Given the description of an element on the screen output the (x, y) to click on. 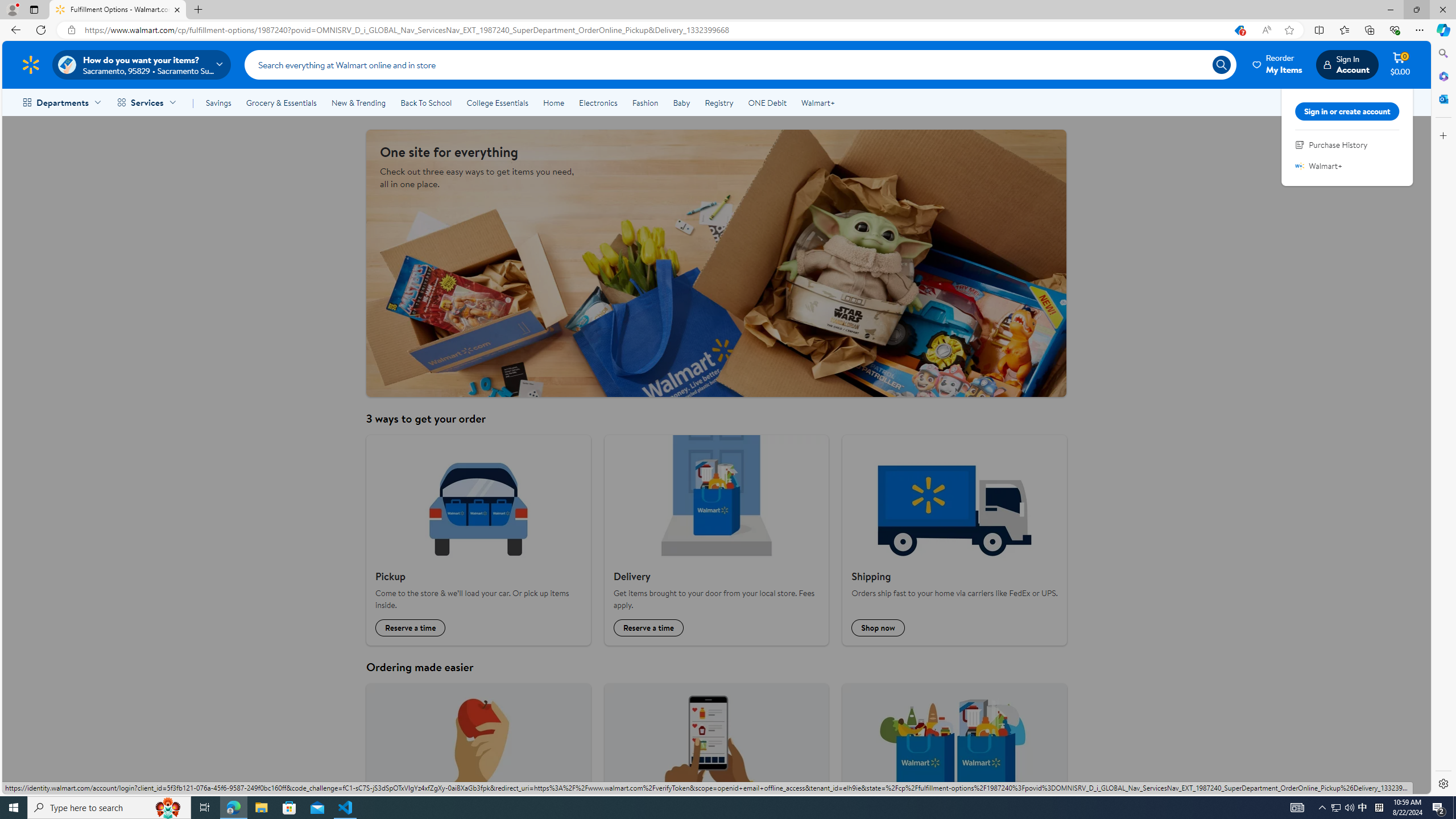
Savings (217, 102)
New & Trending (358, 102)
Registry (718, 102)
Back To School (425, 102)
Search icon (1220, 64)
Back To School (425, 102)
